Given the description of an element on the screen output the (x, y) to click on. 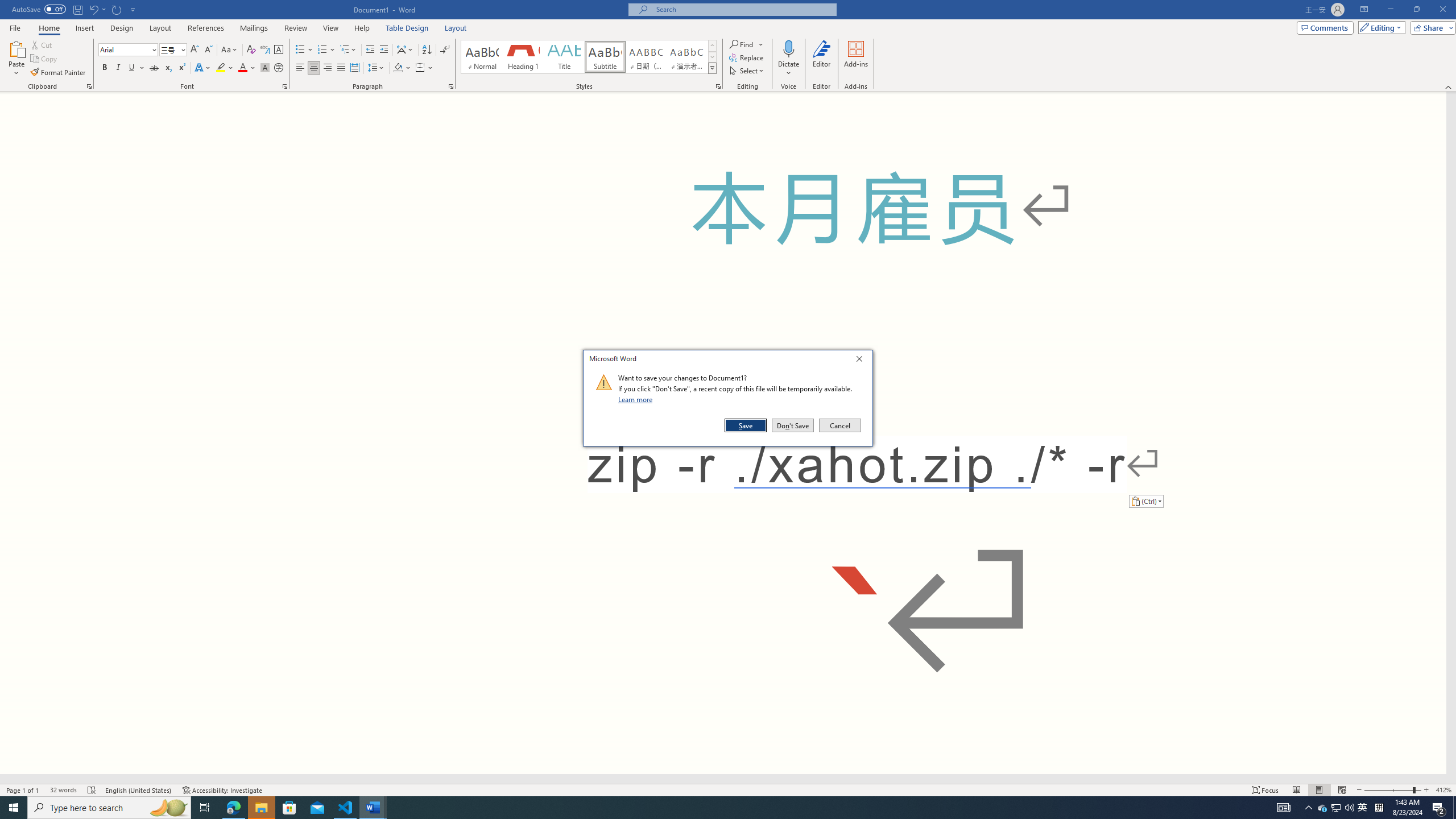
Cancel (839, 425)
Accessibility Checker Accessibility: Investigate (222, 790)
Don't Save (792, 425)
Shading RGB(0, 0, 0) (397, 67)
Zoom 412% (1443, 790)
Asian Layout (405, 49)
Title (564, 56)
Microsoft Store (289, 807)
User Promoted Notification Area (1336, 807)
